Given the description of an element on the screen output the (x, y) to click on. 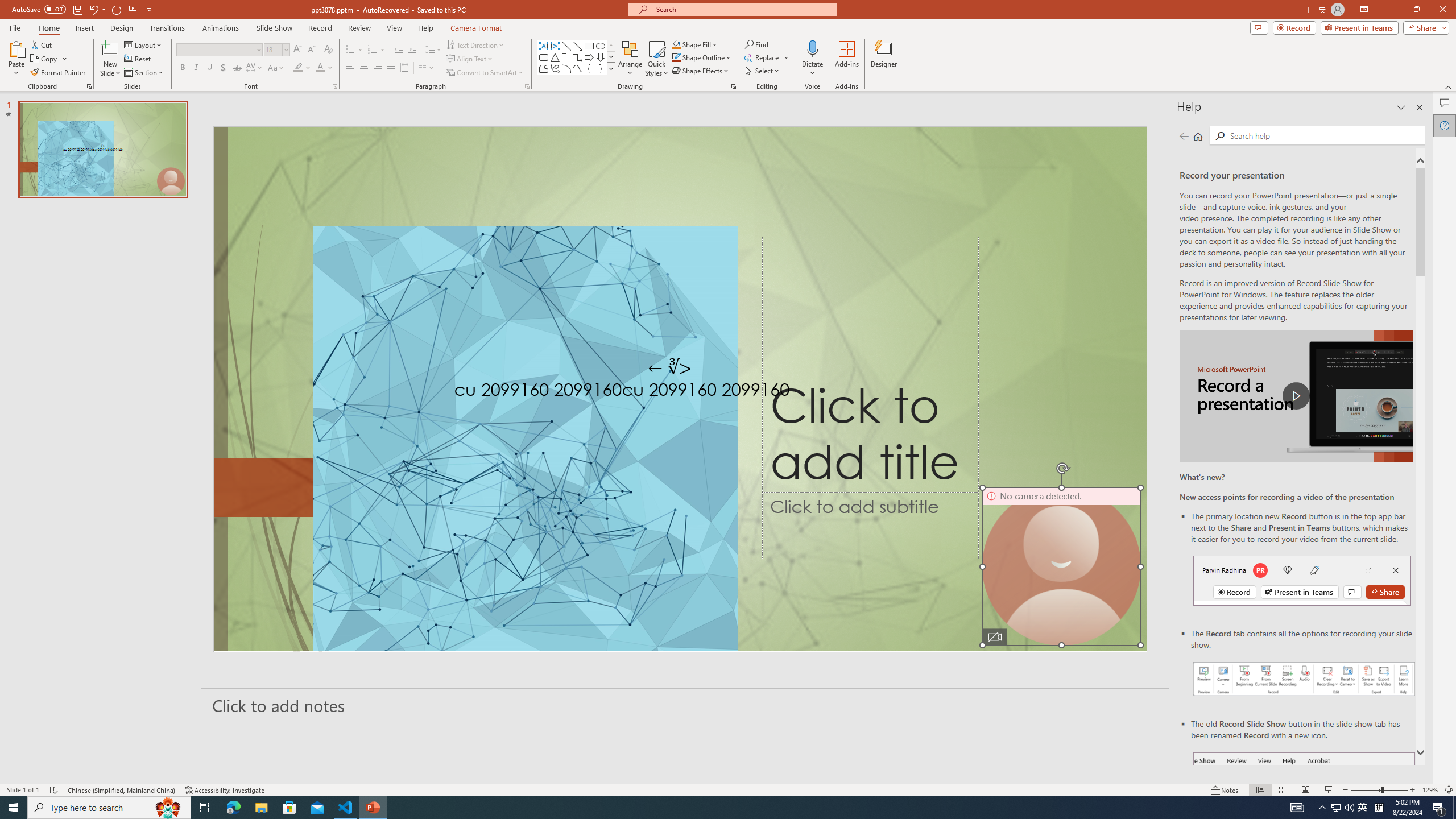
play Record a Presentation (1296, 395)
TextBox 7 (670, 367)
